Given the description of an element on the screen output the (x, y) to click on. 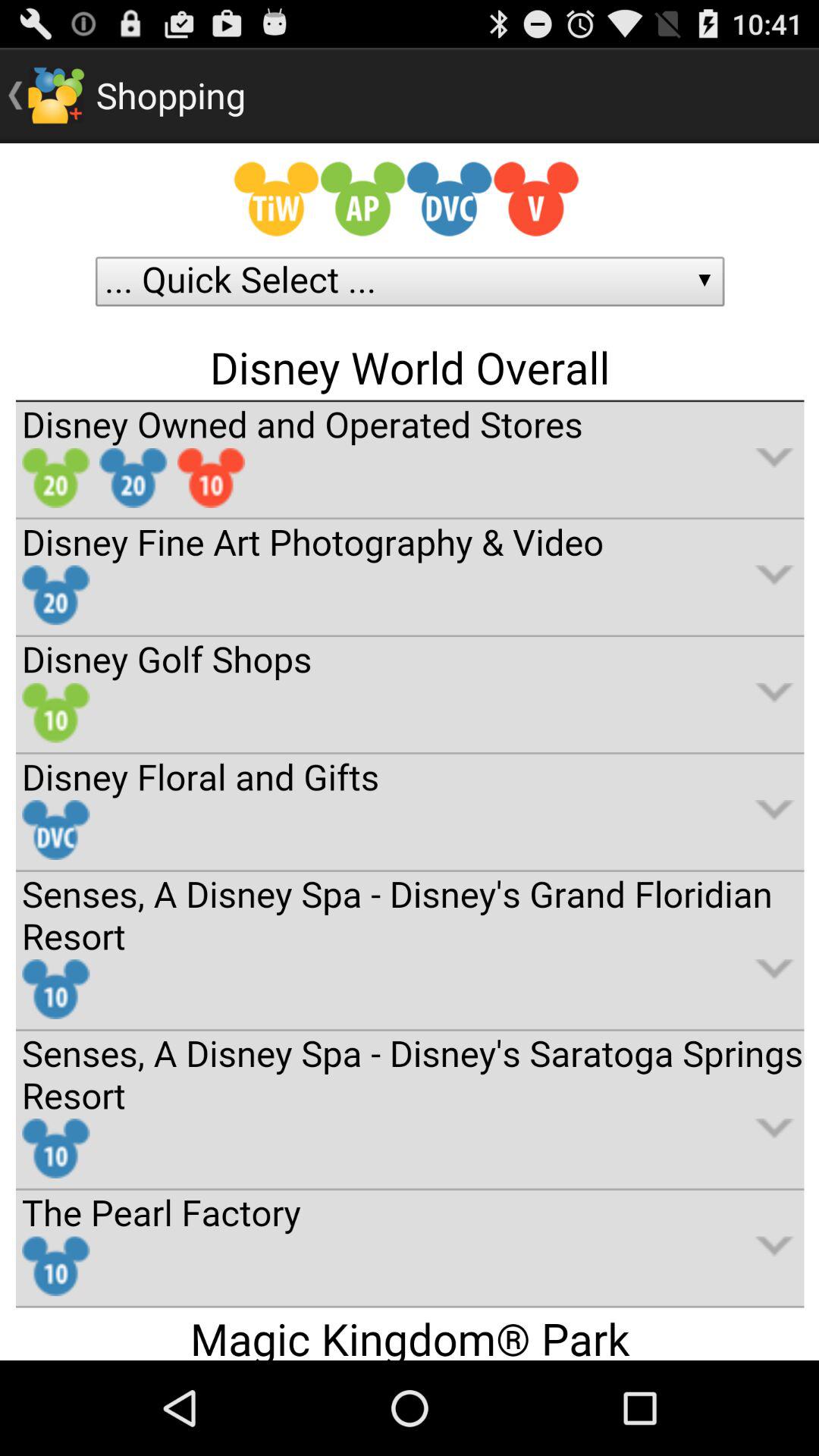
select any one (409, 751)
